Given the description of an element on the screen output the (x, y) to click on. 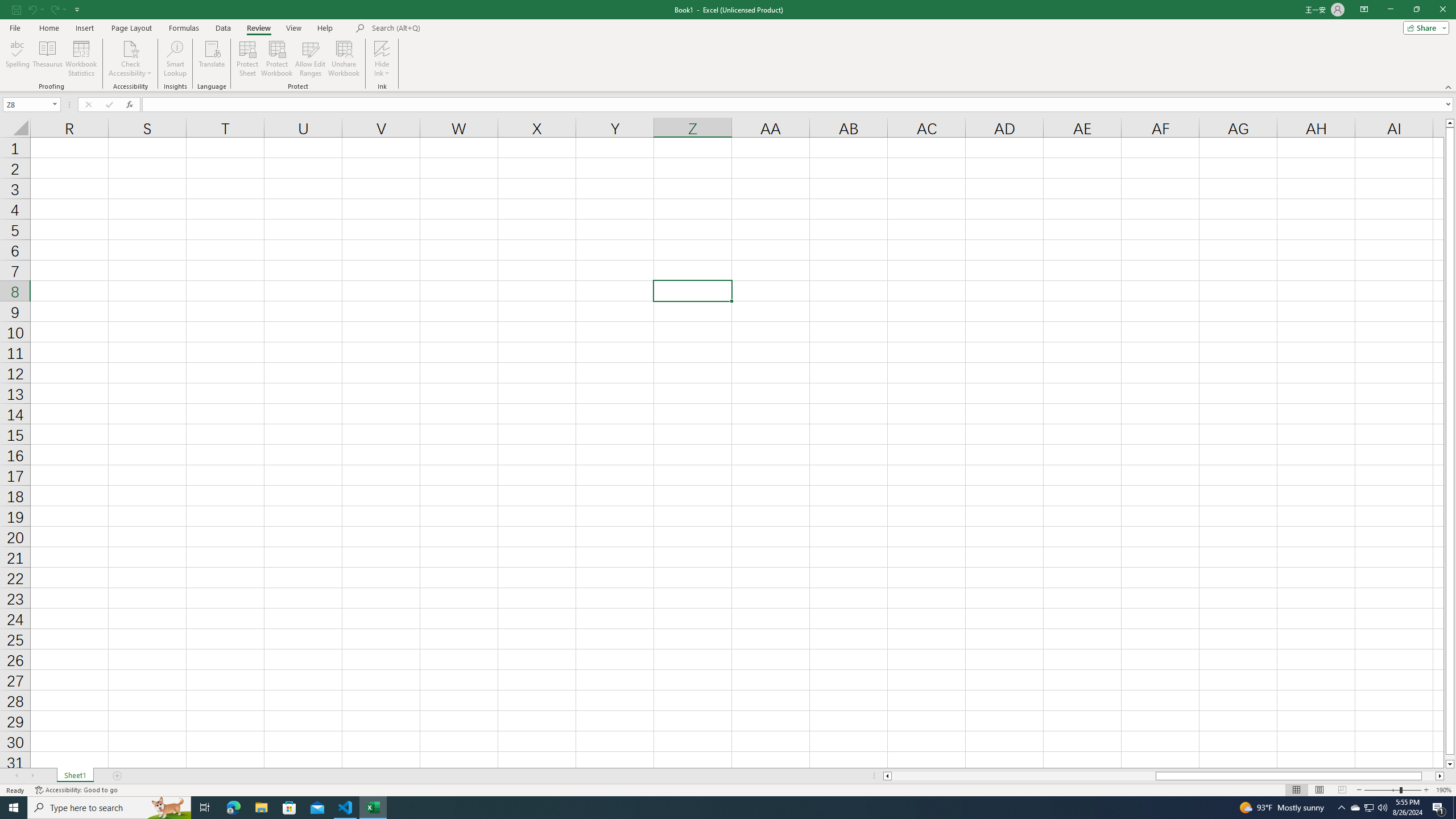
Hide Ink (381, 48)
Thesaurus... (47, 58)
